Given the description of an element on the screen output the (x, y) to click on. 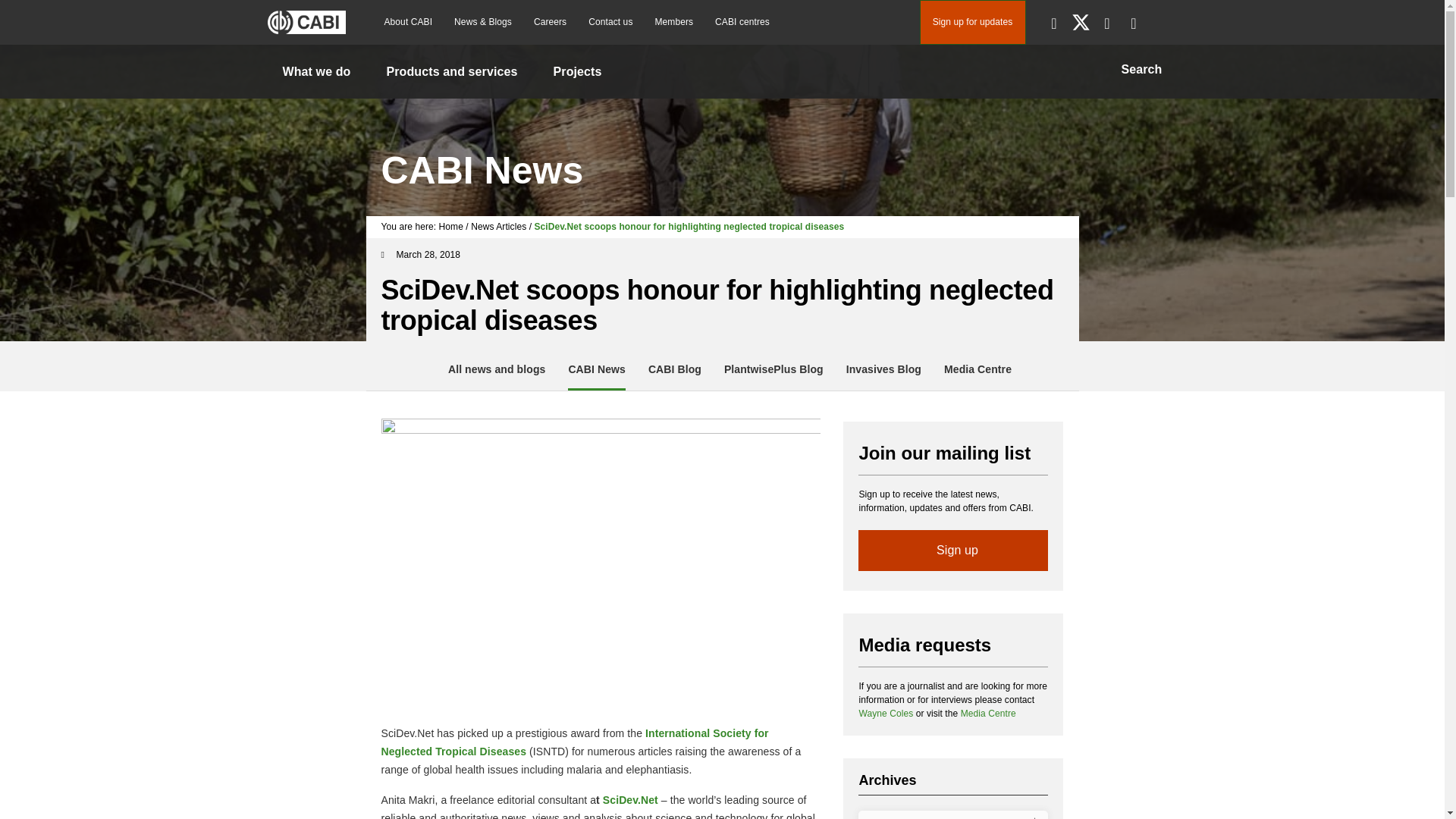
CABI centres (742, 22)
Contact us (610, 22)
About CABI (407, 22)
Sign up for updates (971, 22)
Members (673, 22)
Careers (549, 22)
